Given the description of an element on the screen output the (x, y) to click on. 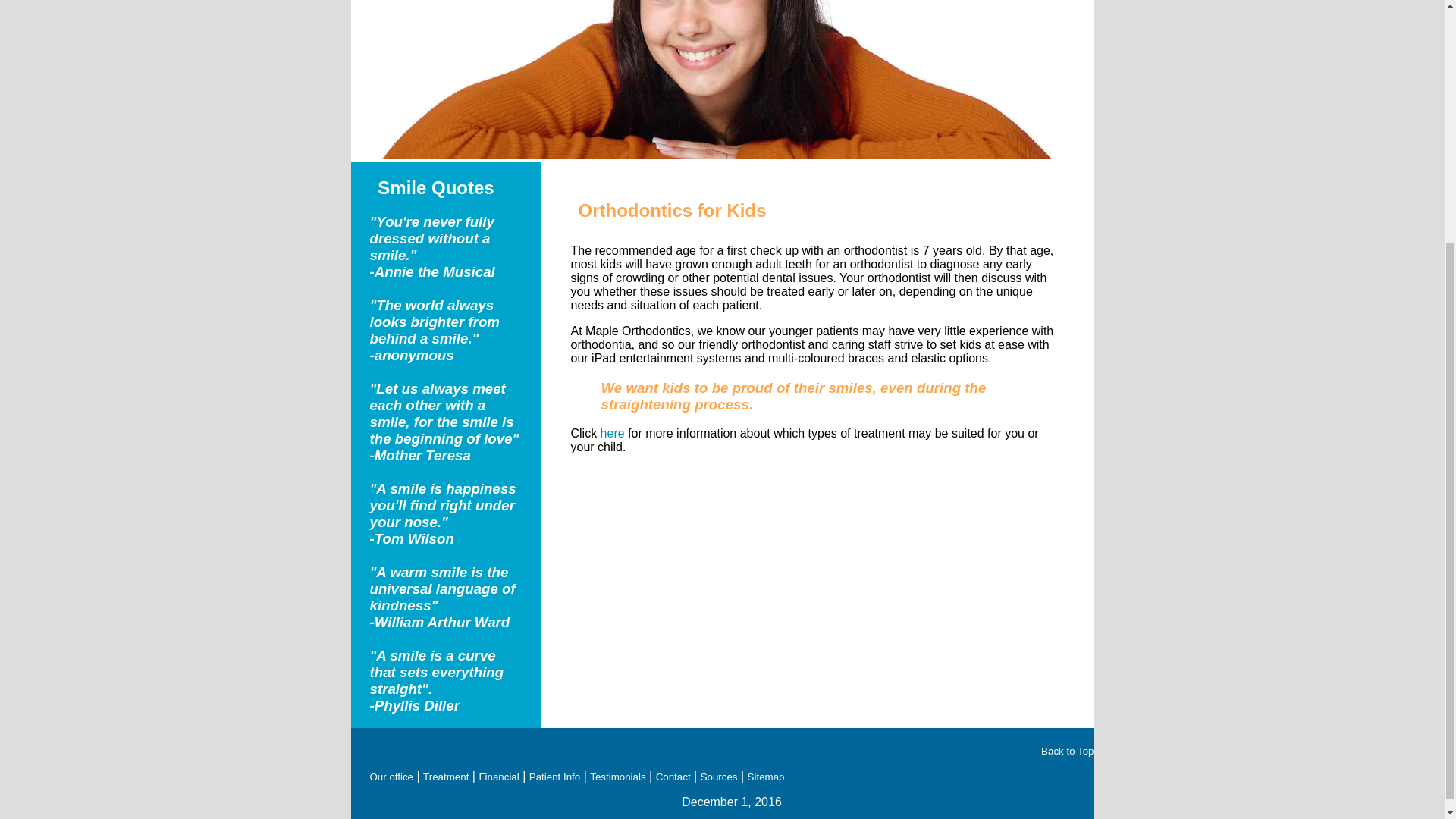
Back to Top (1067, 750)
Sitemap (766, 776)
Our office (391, 776)
Treatment (445, 776)
Financial (498, 776)
Contact (673, 776)
Patient Info (554, 776)
Sources (719, 776)
here (611, 432)
Testimonials (617, 776)
